Given the description of an element on the screen output the (x, y) to click on. 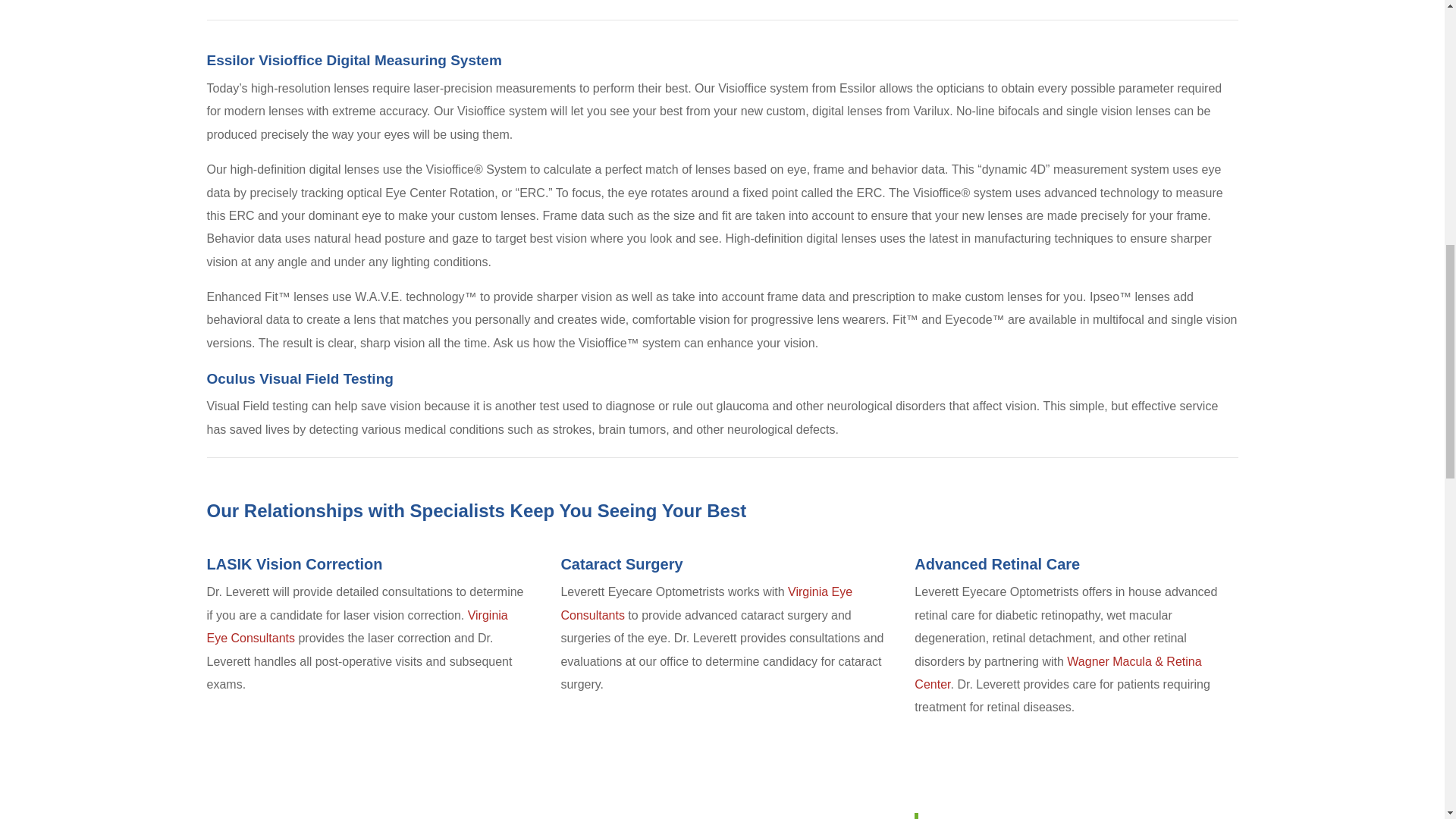
Virginia Eye Consultants (705, 602)
Virginia Eye Consultants (356, 626)
Leverett Eyecare, P.C. (993, 818)
